Given the description of an element on the screen output the (x, y) to click on. 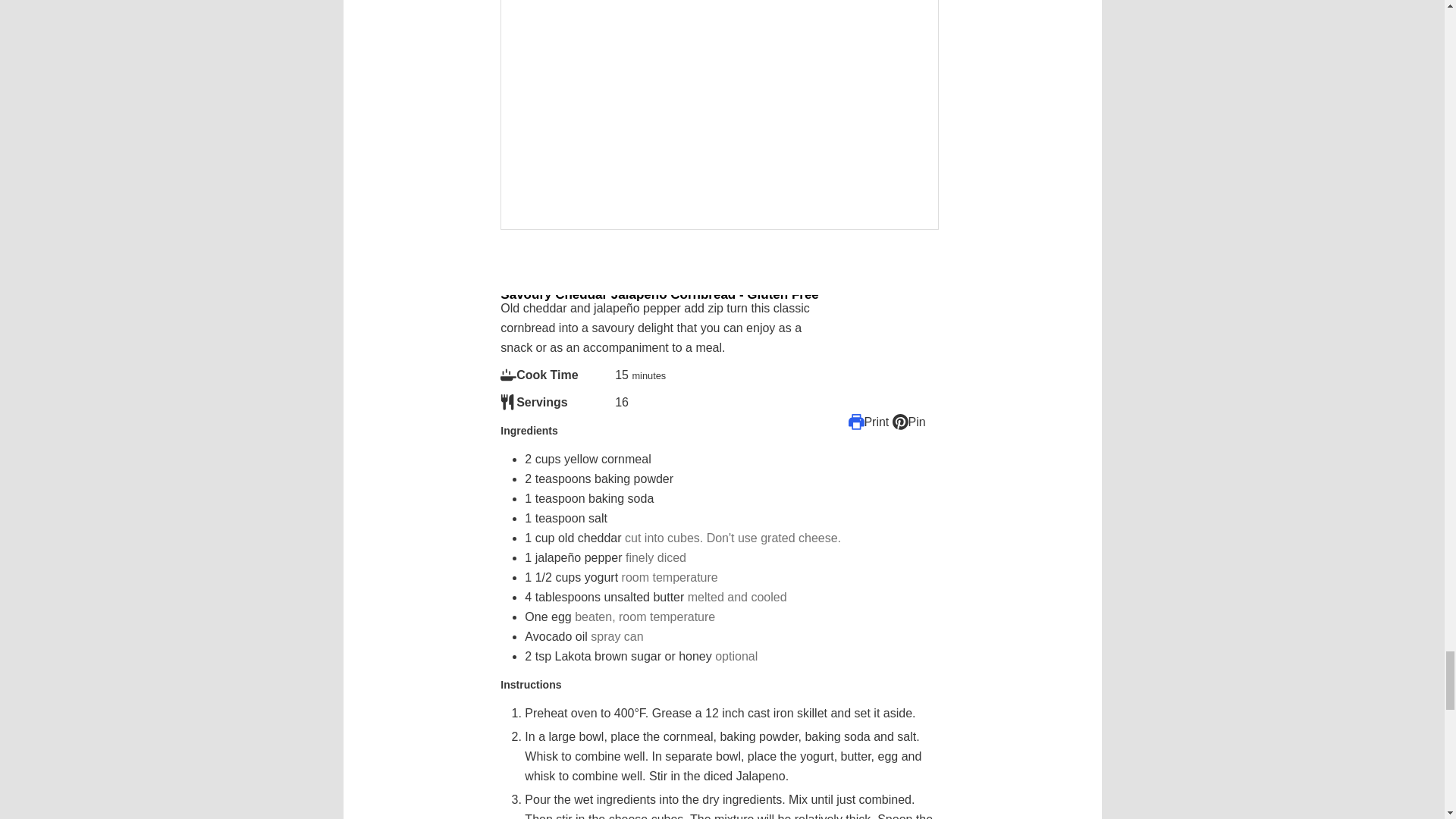
Print (868, 421)
Pin (909, 421)
